Given the description of an element on the screen output the (x, y) to click on. 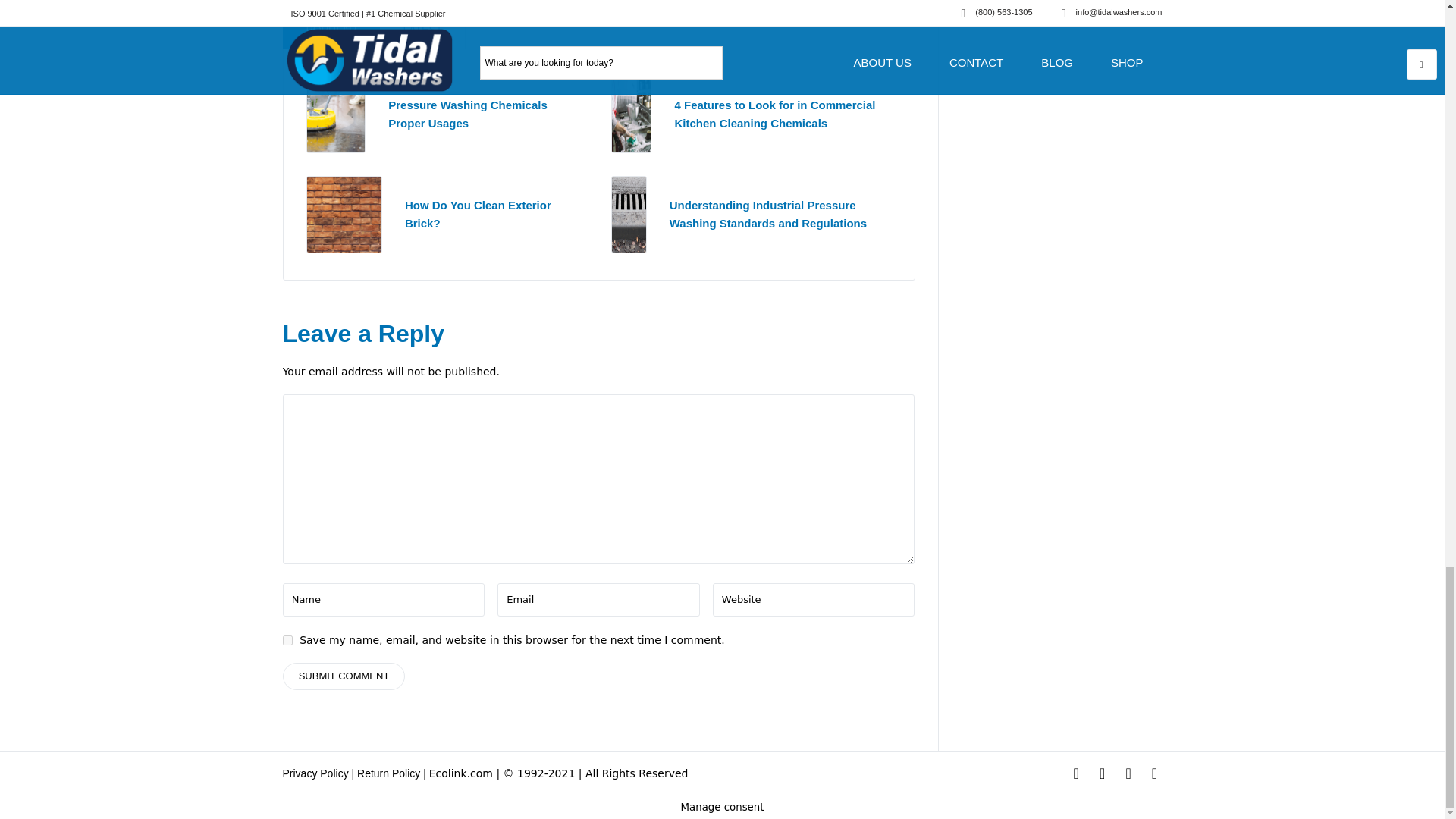
POPULAR (331, 29)
How Do You Clean Exterior Brick? (477, 214)
yes (287, 639)
Pressure Washing Chemicals Proper Usages (467, 113)
Pressure Washing Chemicals Proper Usages (467, 113)
LATEST (422, 29)
Pressure Washing Chemicals Proper Usages (336, 113)
